Given the description of an element on the screen output the (x, y) to click on. 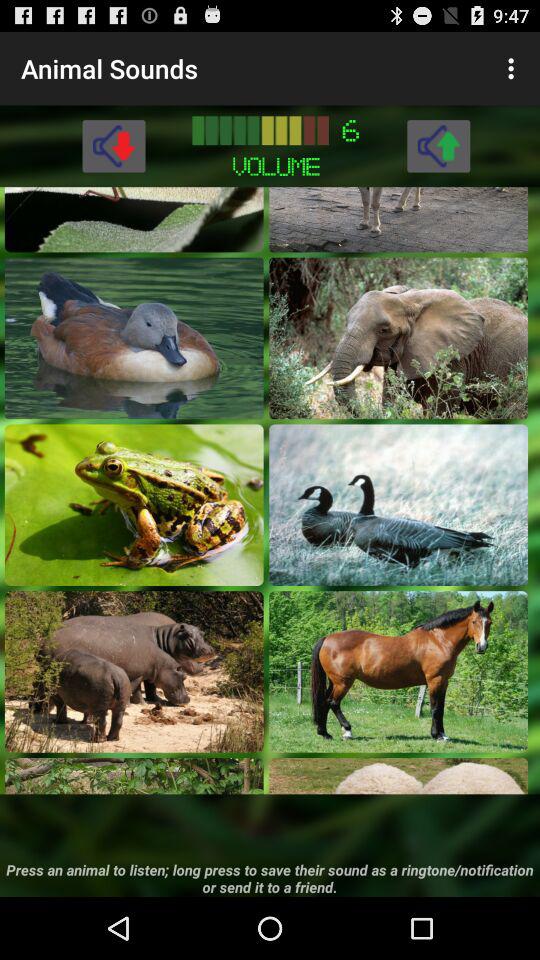
plays animal sound (133, 775)
